Given the description of an element on the screen output the (x, y) to click on. 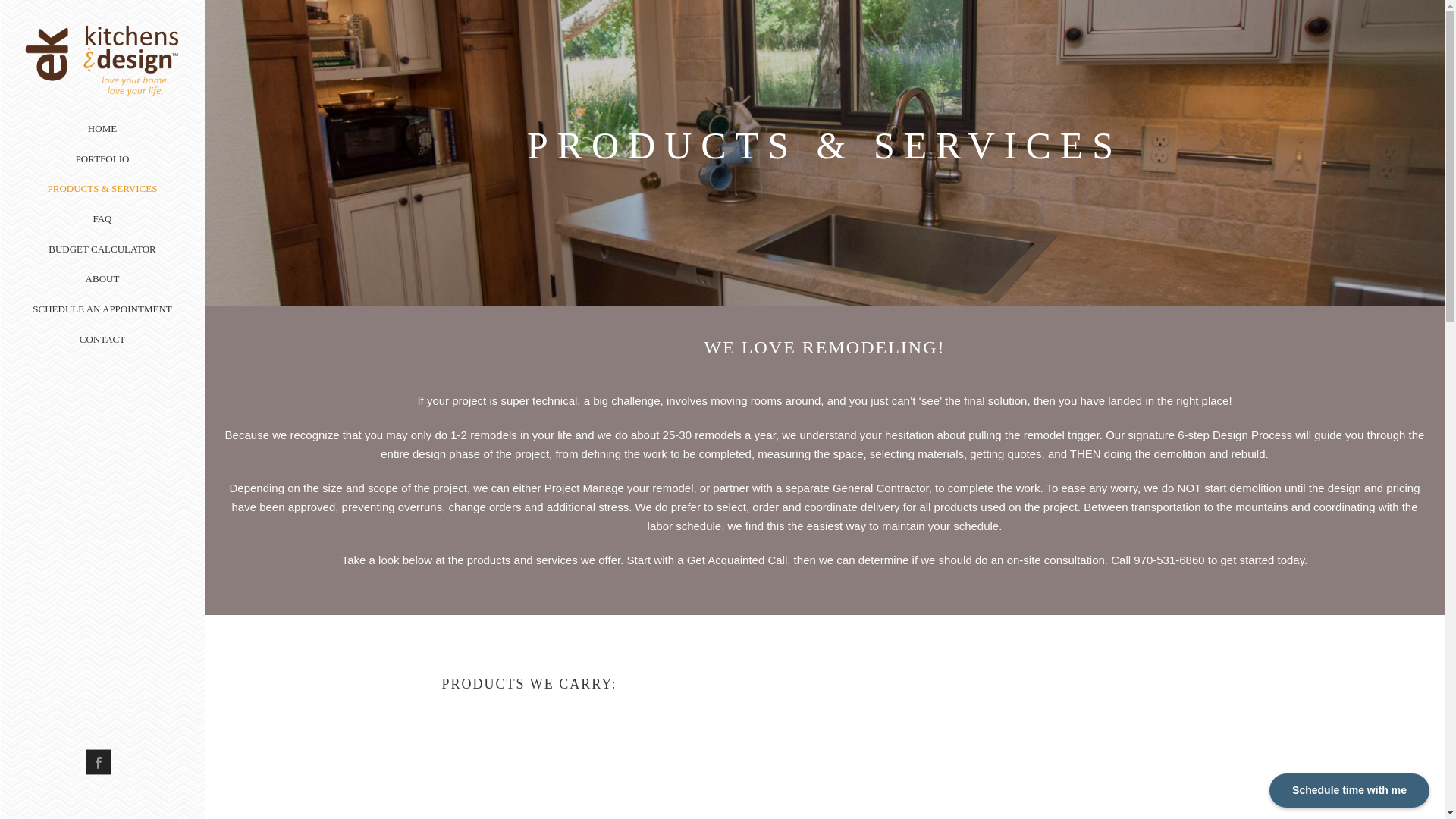
FAQ (102, 218)
HOME (102, 128)
ABOUT (102, 278)
BUDGET CALCULATOR (102, 249)
CONTACT (102, 339)
EK KITCHENS AND DESIGN (102, 82)
SCHEDULE AN APPOINTMENT (102, 309)
Your remodeling designer (102, 54)
PORTFOLIO (102, 159)
